Given the description of an element on the screen output the (x, y) to click on. 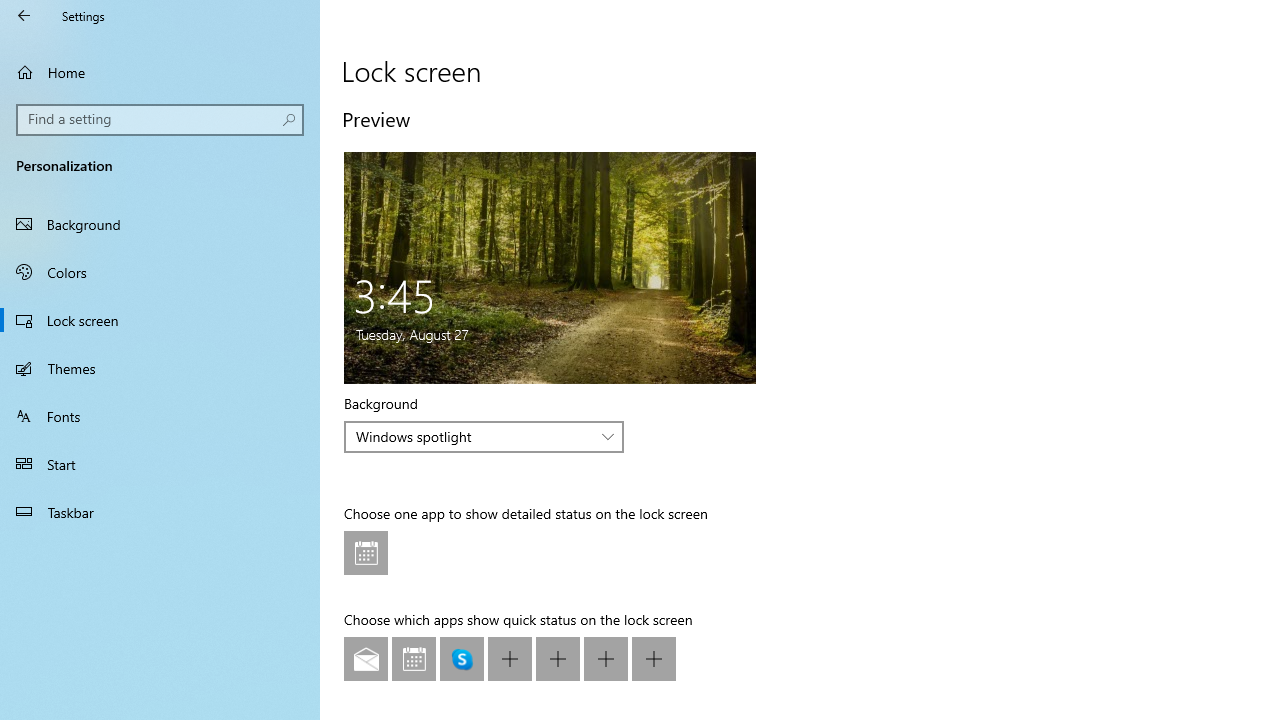
Mail (365, 659)
Lock screen app quick status at position 1 (365, 659)
Lock screen app quick status at position 2 (413, 659)
Lock screen app quick status at position 5 (557, 659)
Lock screen app quick status at position 7 (653, 659)
Lock screen app quick status at position 6 (605, 659)
Windows spotlight (473, 435)
Colors (160, 271)
Lock screen app quick status at position 3 (461, 659)
Fonts (160, 415)
Lock screen app quick status at position 4 (509, 659)
Background (160, 223)
Skype (461, 659)
Lock screen (160, 319)
Search box, Find a setting (160, 119)
